Given the description of an element on the screen output the (x, y) to click on. 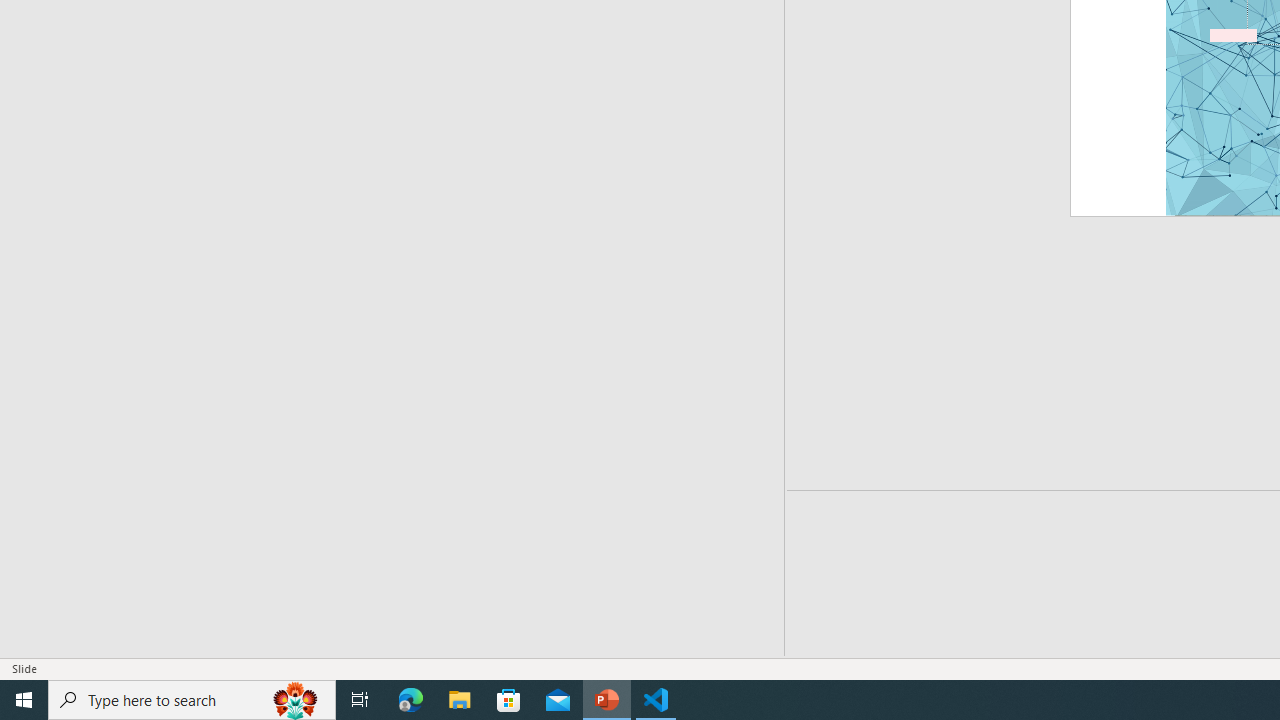
Camera 9 (1080, 353)
